Given the description of an element on the screen output the (x, y) to click on. 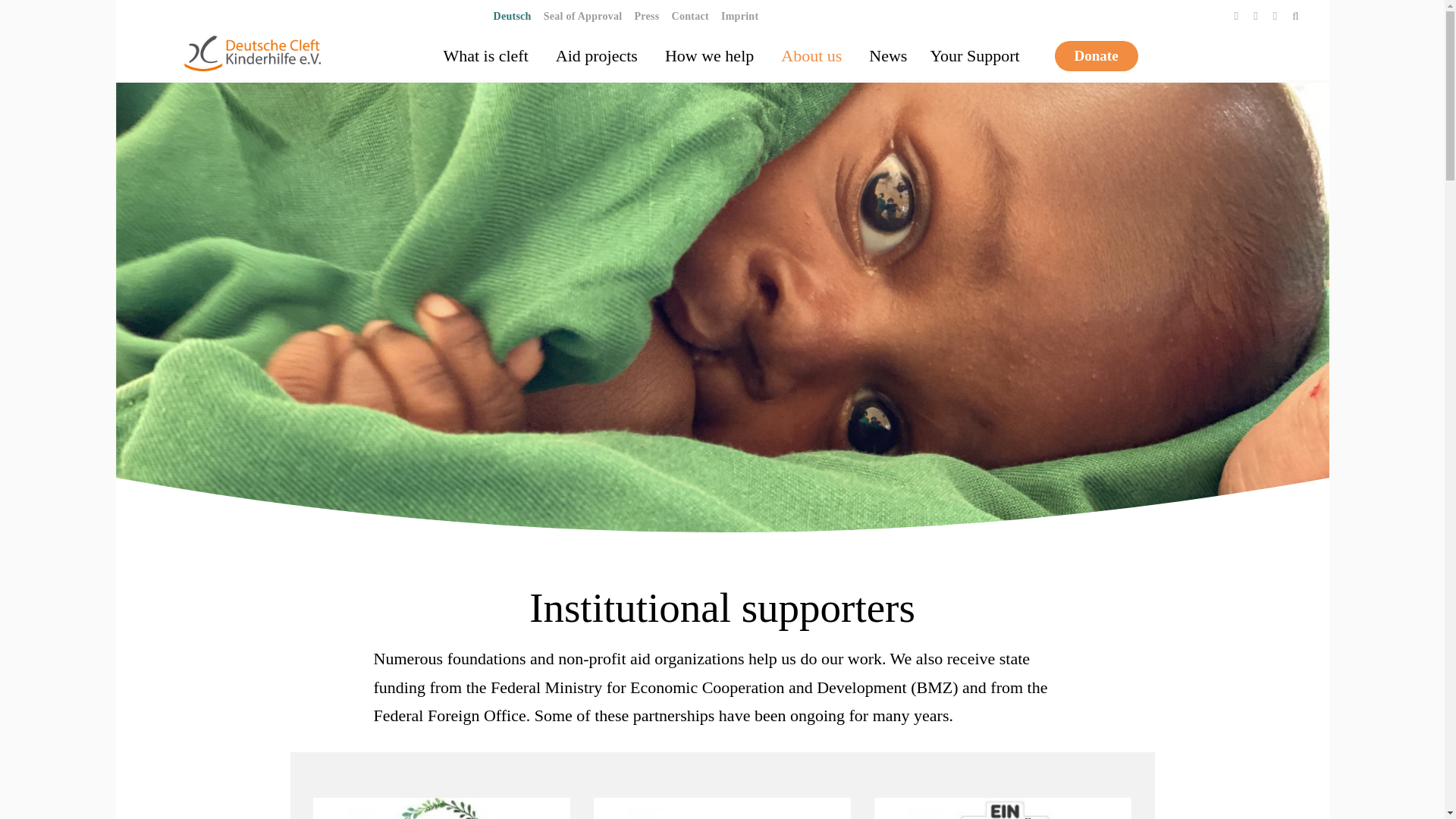
Seal of Approval (582, 14)
Deutsch (511, 14)
Aid projects (599, 55)
Imprint (739, 14)
Deutsch (511, 14)
Press (646, 14)
What is cleft (487, 55)
Contact (689, 14)
